Given the description of an element on the screen output the (x, y) to click on. 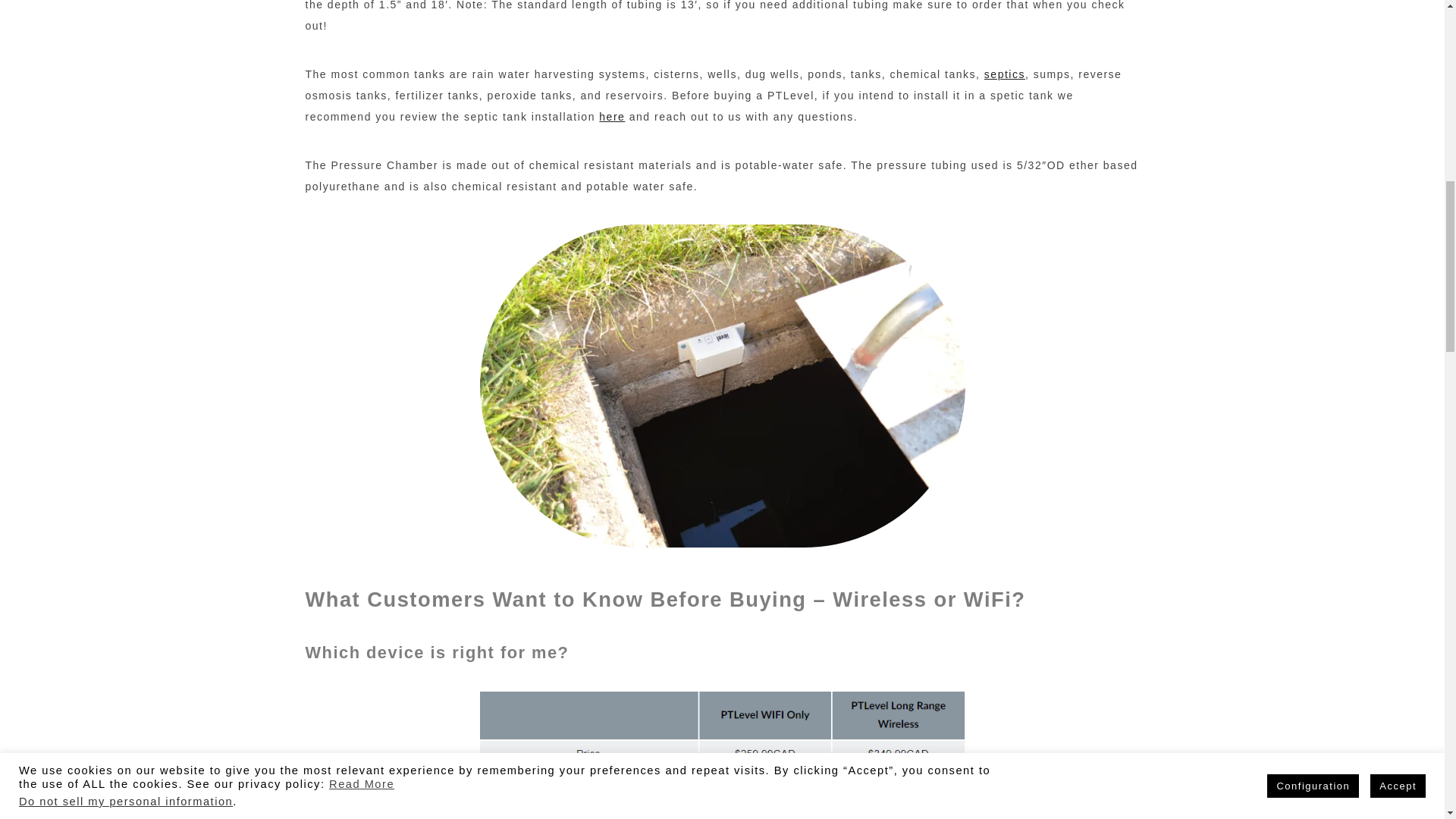
here (611, 116)
septics (1004, 73)
